Given the description of an element on the screen output the (x, y) to click on. 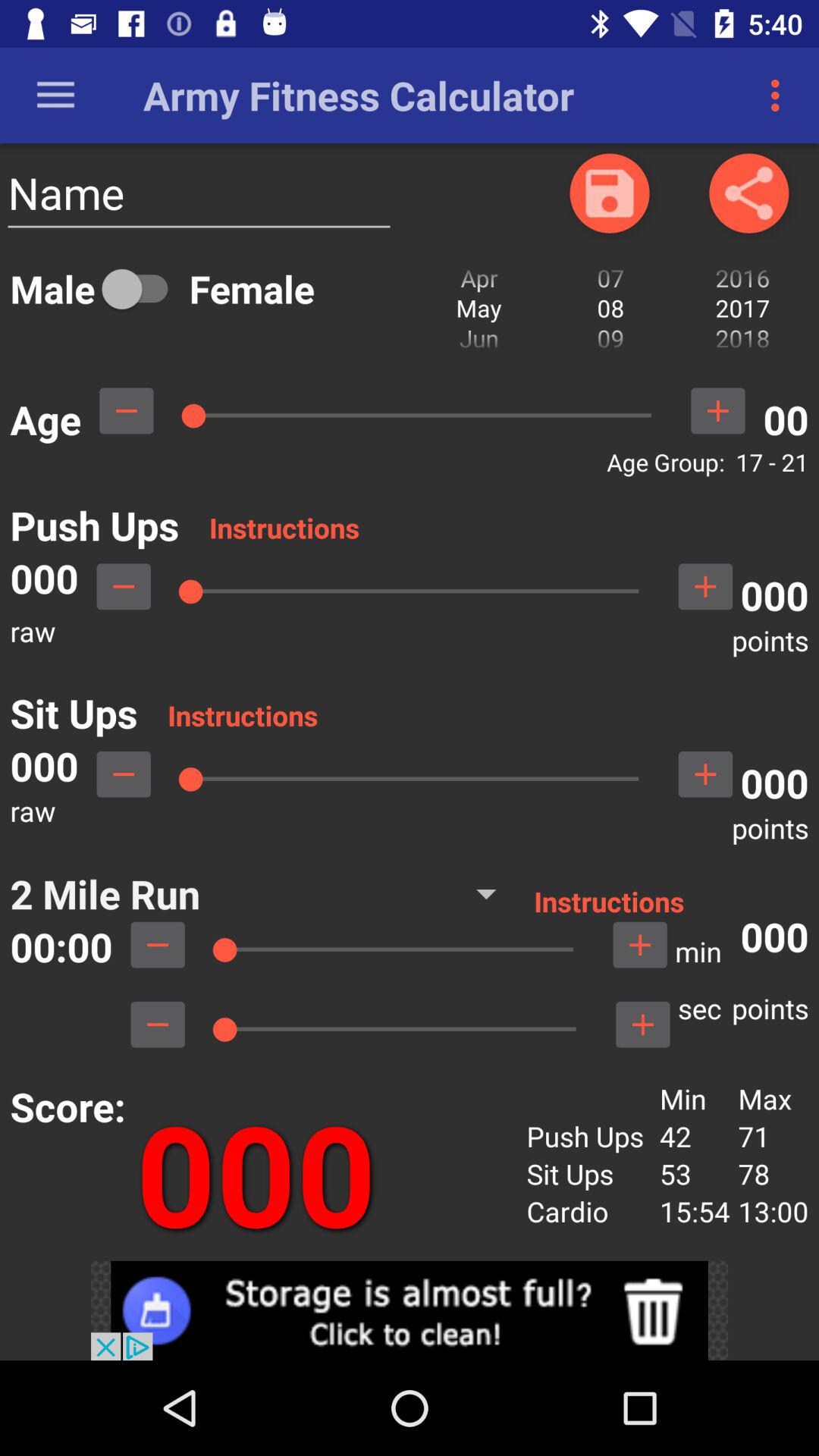
add more (705, 774)
